Given the description of an element on the screen output the (x, y) to click on. 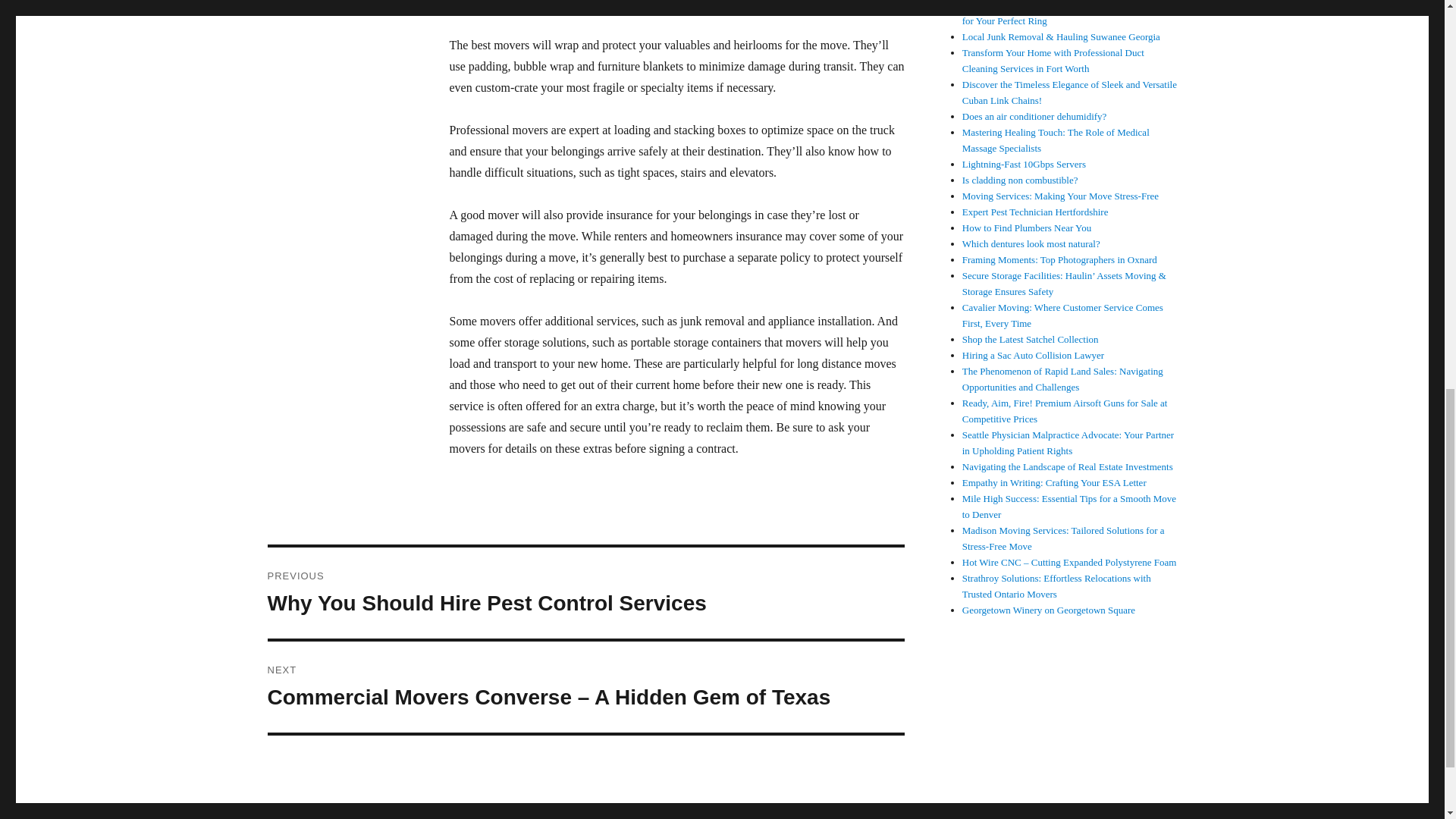
Is cladding non combustible? (1020, 179)
Does an air conditioner dehumidify? (1034, 116)
Lightning-Fast 10Gbps Servers (1024, 163)
